Given the description of an element on the screen output the (x, y) to click on. 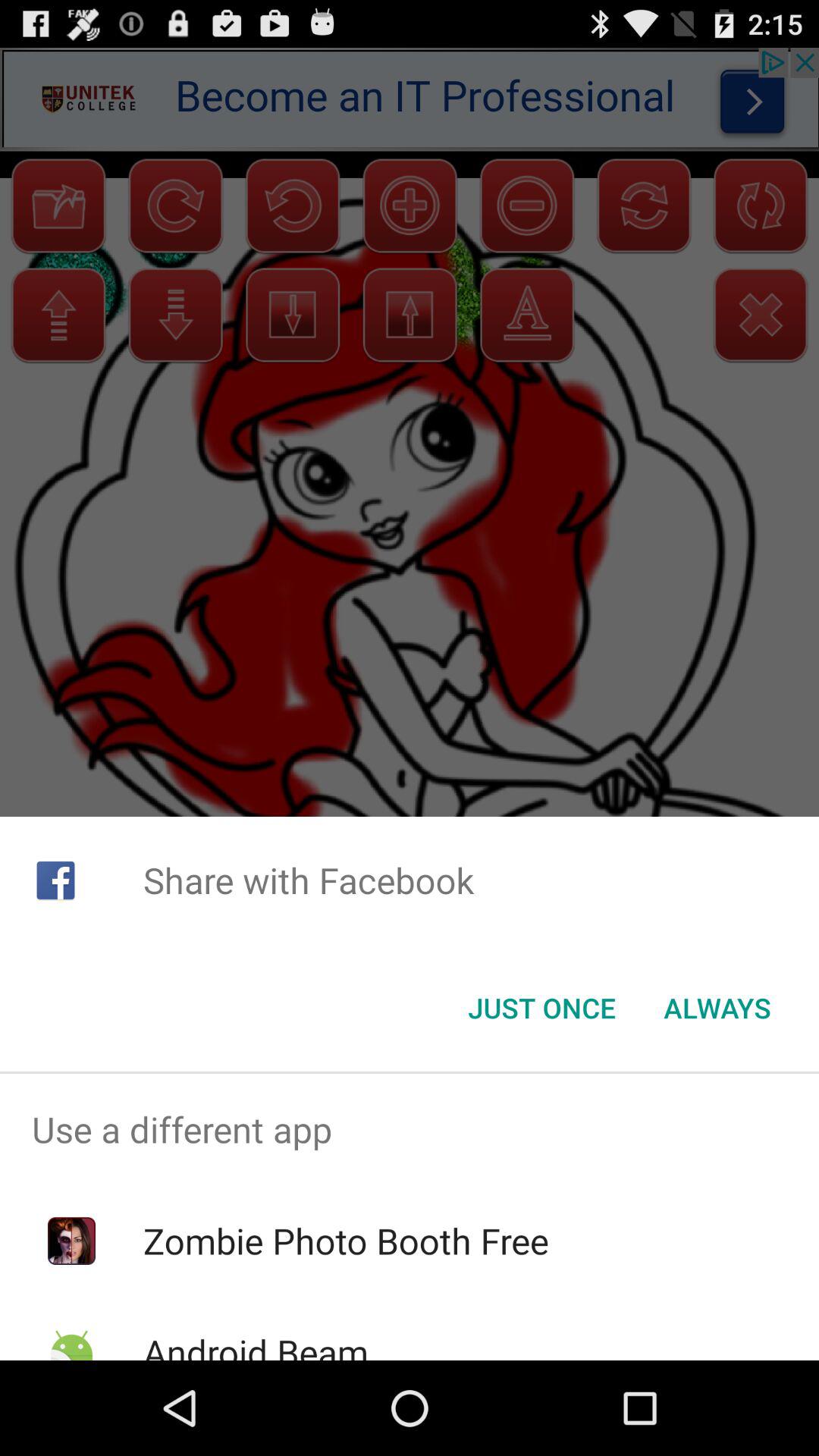
choose always button (717, 1007)
